Given the description of an element on the screen output the (x, y) to click on. 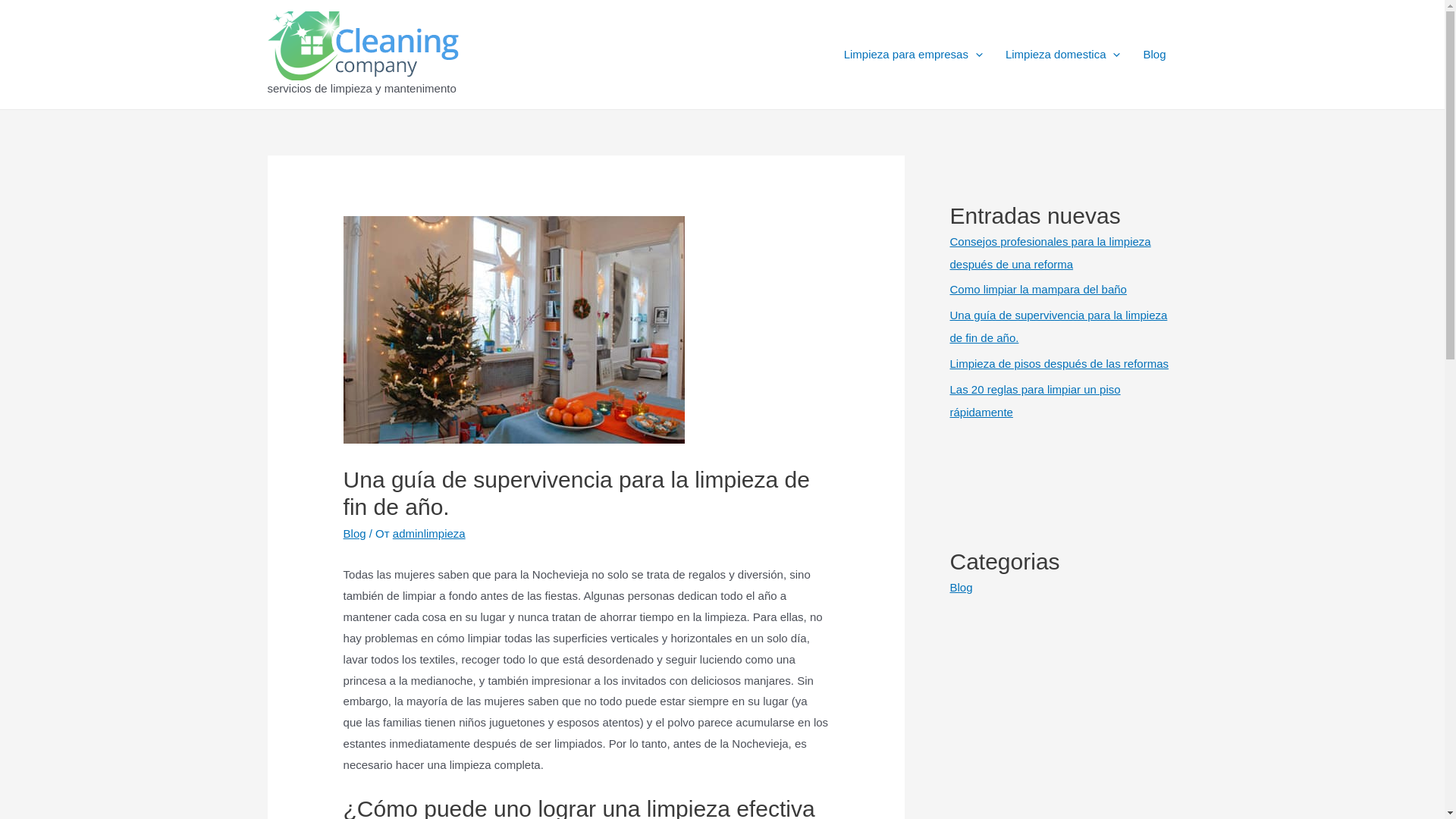
Limpieza para empresas Element type: text (913, 54)
adminlimpieza Element type: text (428, 533)
Limpieza domestica Element type: text (1063, 54)
Blog Element type: text (354, 533)
Blog Element type: text (960, 586)
Blog Element type: text (1153, 54)
